Given the description of an element on the screen output the (x, y) to click on. 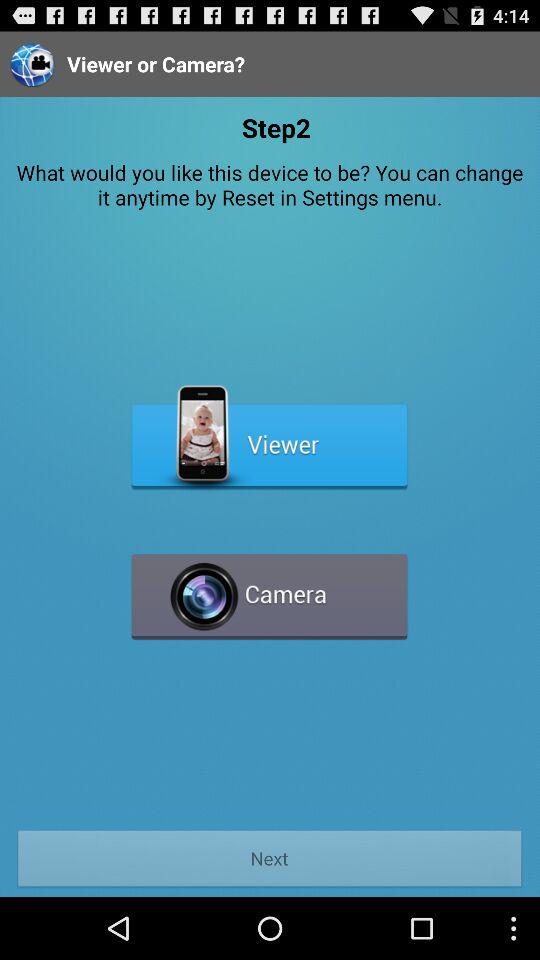
camera (269, 588)
